Given the description of an element on the screen output the (x, y) to click on. 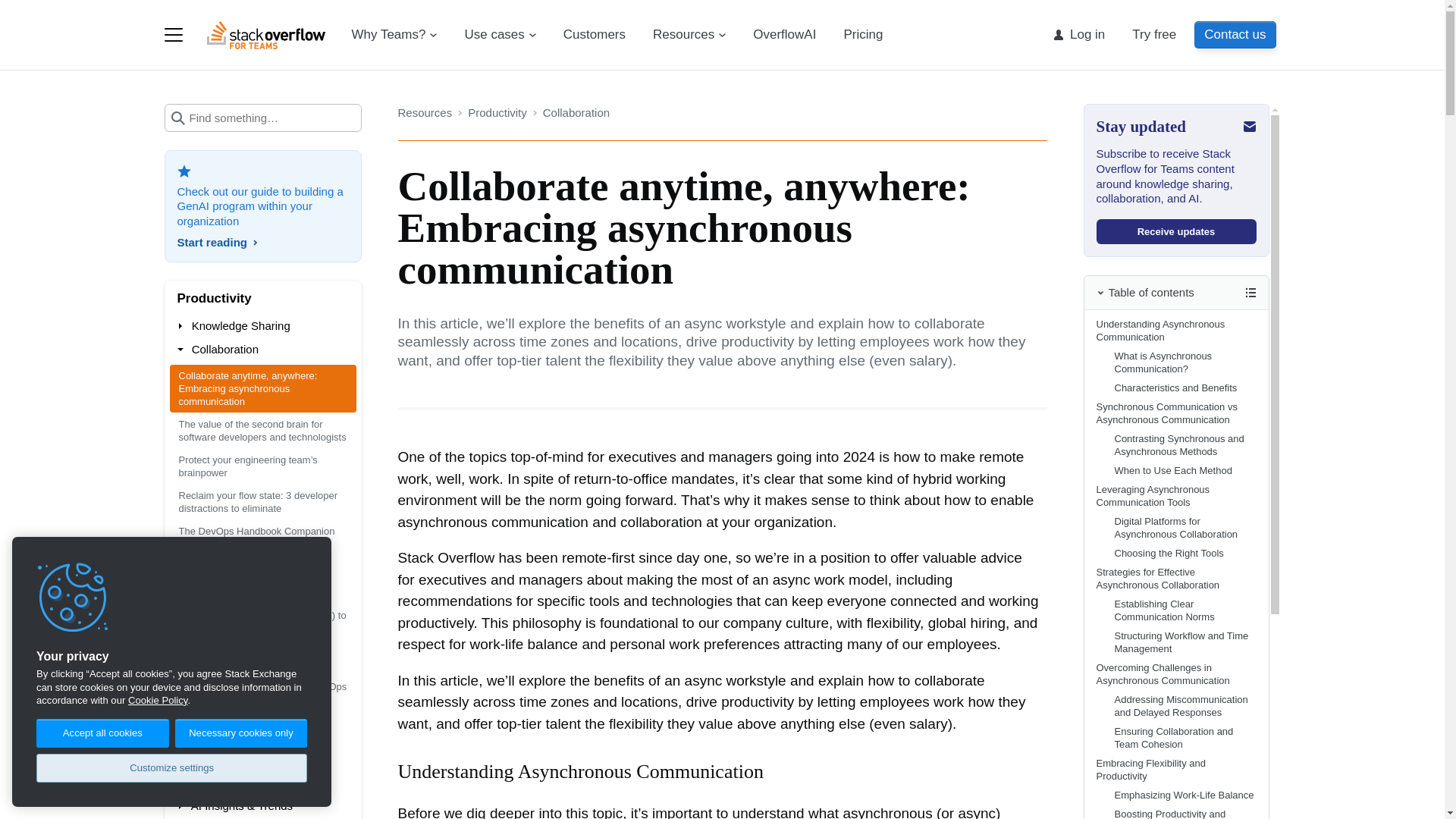
Pricing (863, 34)
Knowledge Sharing (263, 325)
Customers (594, 34)
Productivity (263, 298)
Why Teams? (394, 34)
Products (172, 34)
Try free (1153, 34)
